Given the description of an element on the screen output the (x, y) to click on. 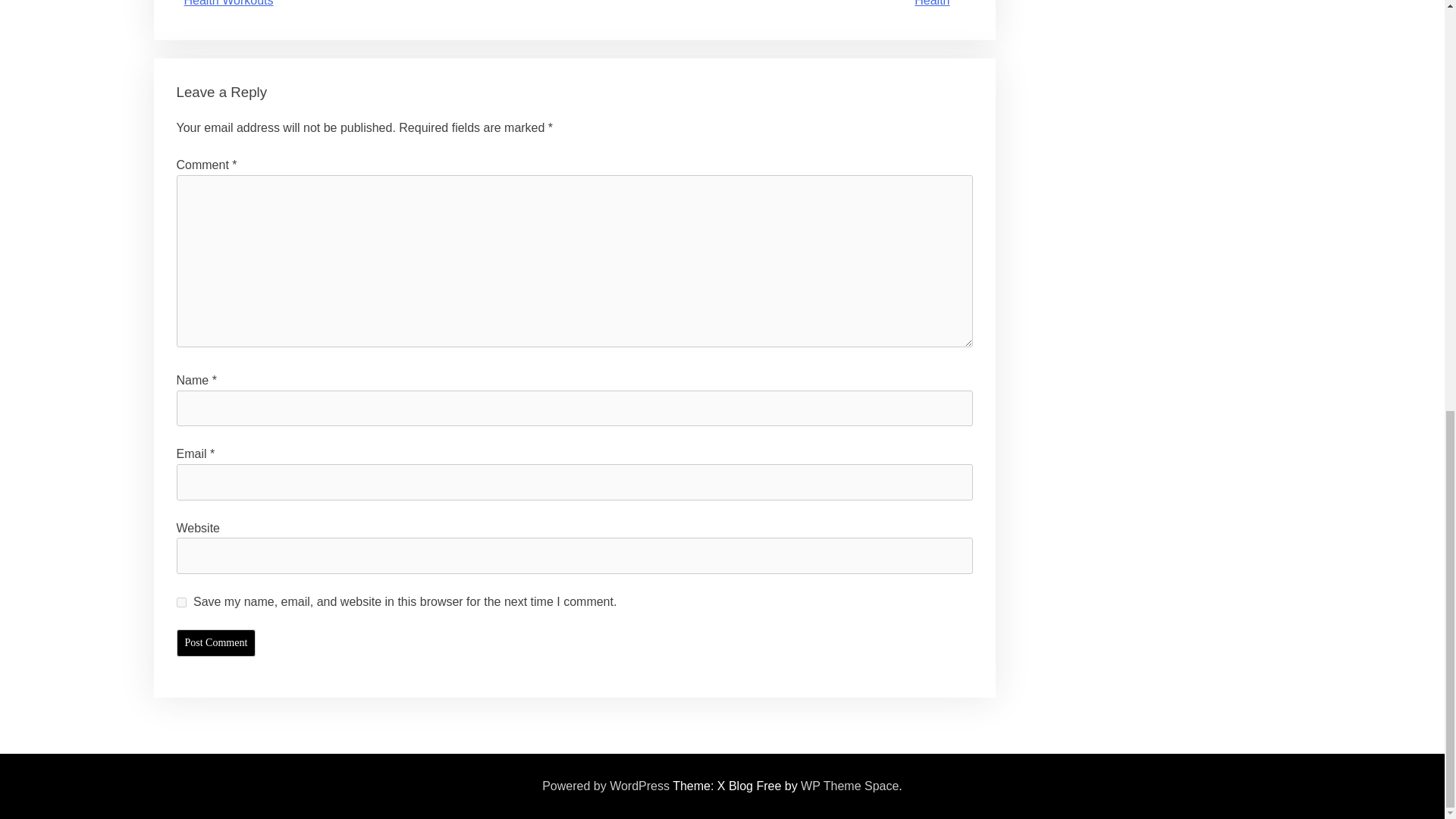
Post Comment (216, 642)
Powered by WordPress (605, 786)
Post Comment (216, 642)
WP Theme Space (849, 786)
yes (181, 602)
